Given the description of an element on the screen output the (x, y) to click on. 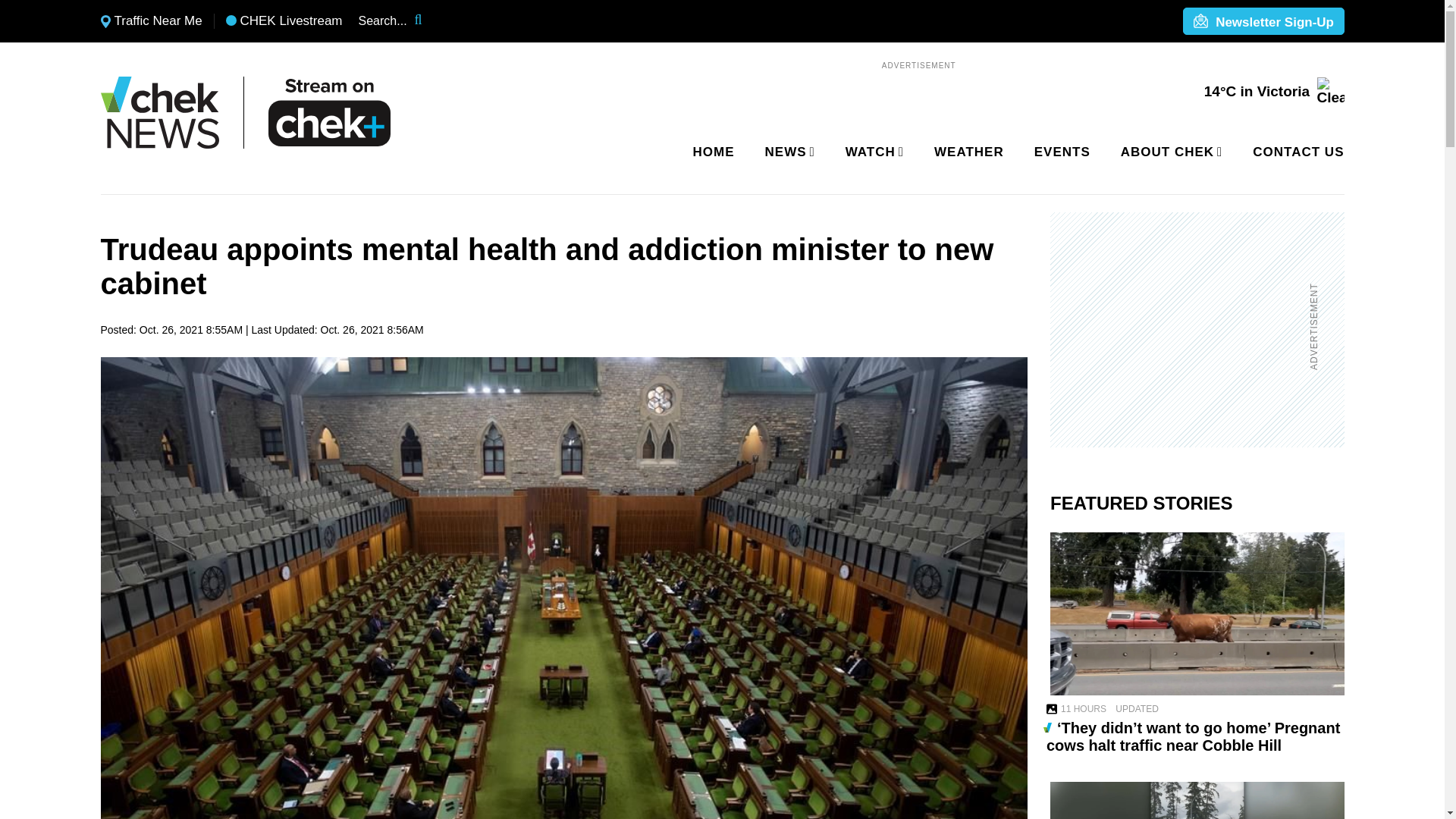
Newsletter Sign-Up (1262, 22)
Traffic Near Me (151, 20)
HOME (714, 152)
3rd party ad content (1187, 330)
NEWS (787, 152)
CHEK Livestream (283, 20)
Search (428, 21)
